Given the description of an element on the screen output the (x, y) to click on. 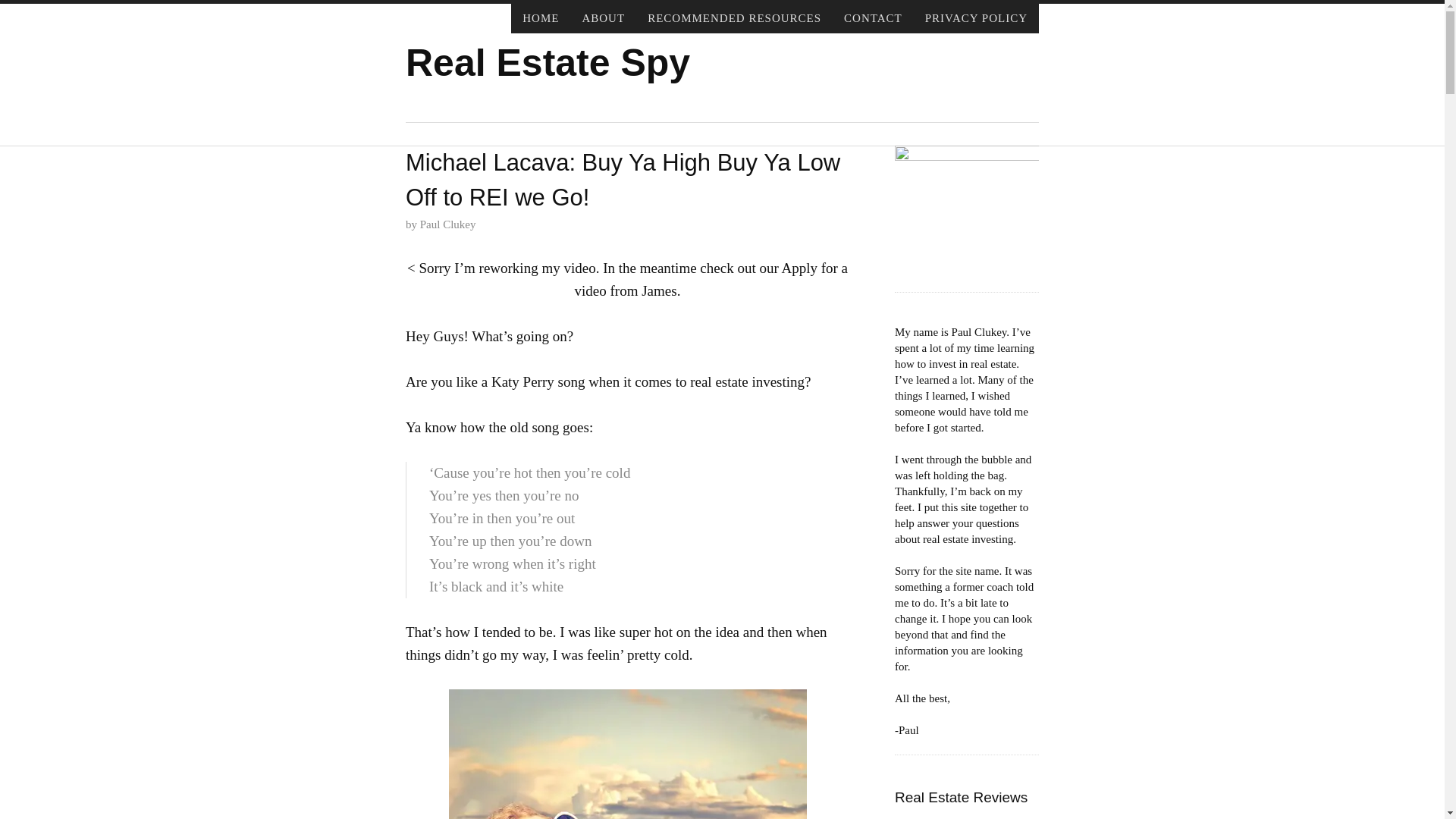
PRIVACY POLICY (976, 18)
RECOMMENDED RESOURCES (734, 18)
CONTACT (873, 18)
ABOUT (603, 18)
HOME (540, 18)
